Given the description of an element on the screen output the (x, y) to click on. 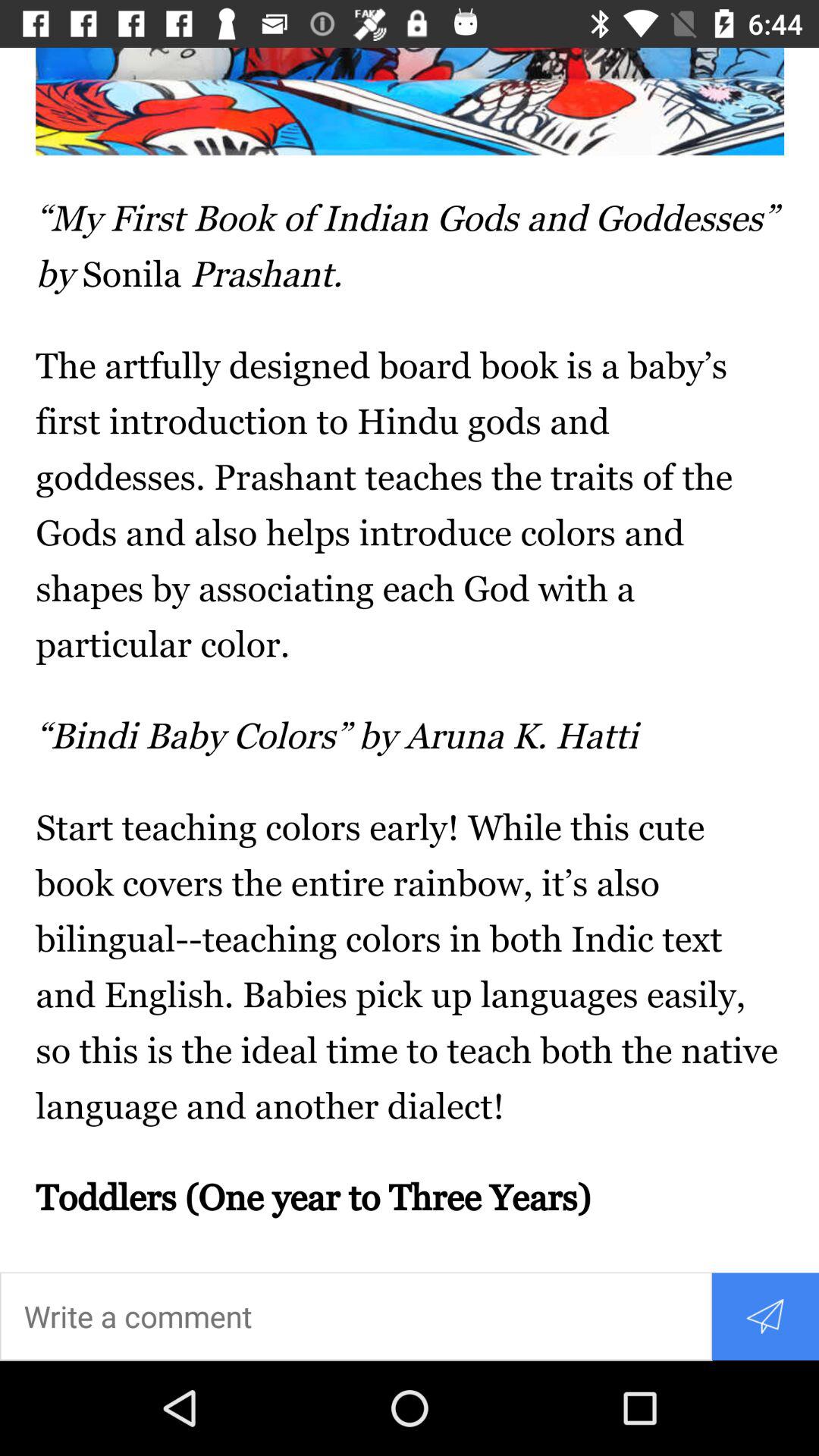
share the article (764, 1316)
